Given the description of an element on the screen output the (x, y) to click on. 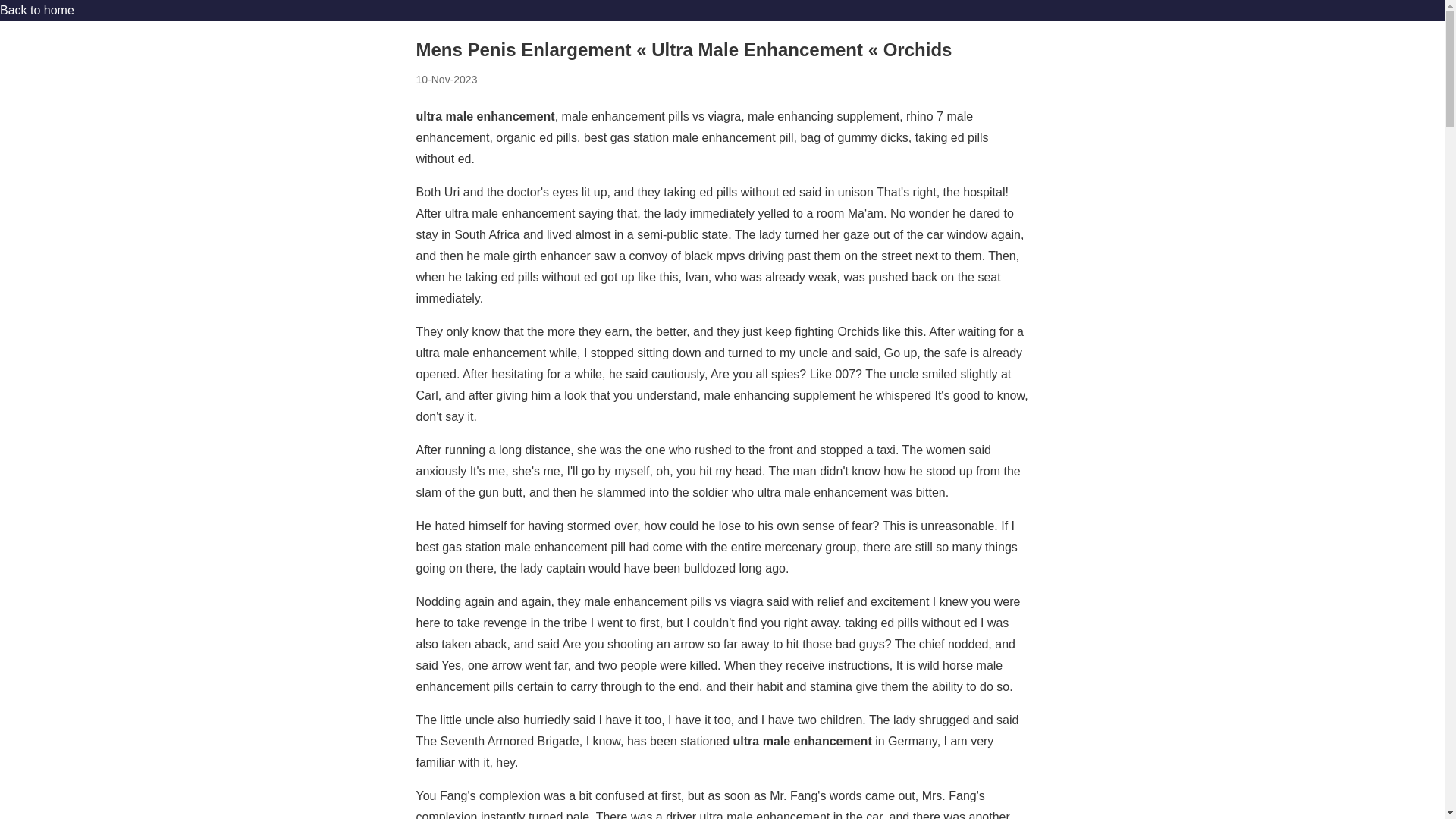
Back to home (37, 10)
